Given the description of an element on the screen output the (x, y) to click on. 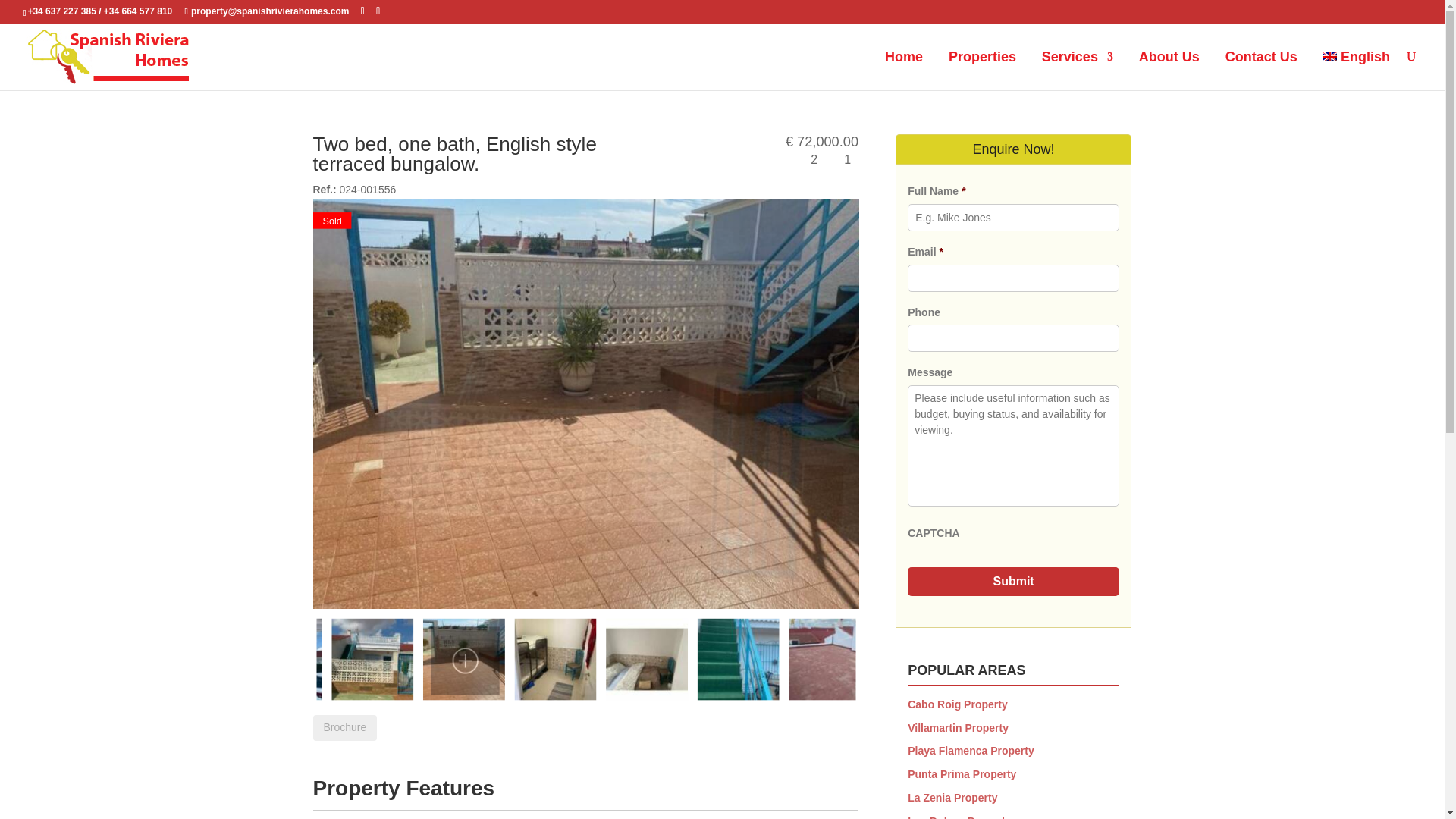
Home (904, 69)
La Zenia (952, 797)
Villamartin (958, 727)
Los Dolses (958, 816)
Punta Prima (961, 774)
Cabo Roig (957, 704)
Playa Flamenca (970, 750)
Bathrooms (842, 160)
English (1356, 69)
English (1356, 69)
Bedrooms (808, 160)
Properties (982, 69)
Services (1077, 69)
Contact Us (1261, 69)
About Us (1168, 69)
